Given the description of an element on the screen output the (x, y) to click on. 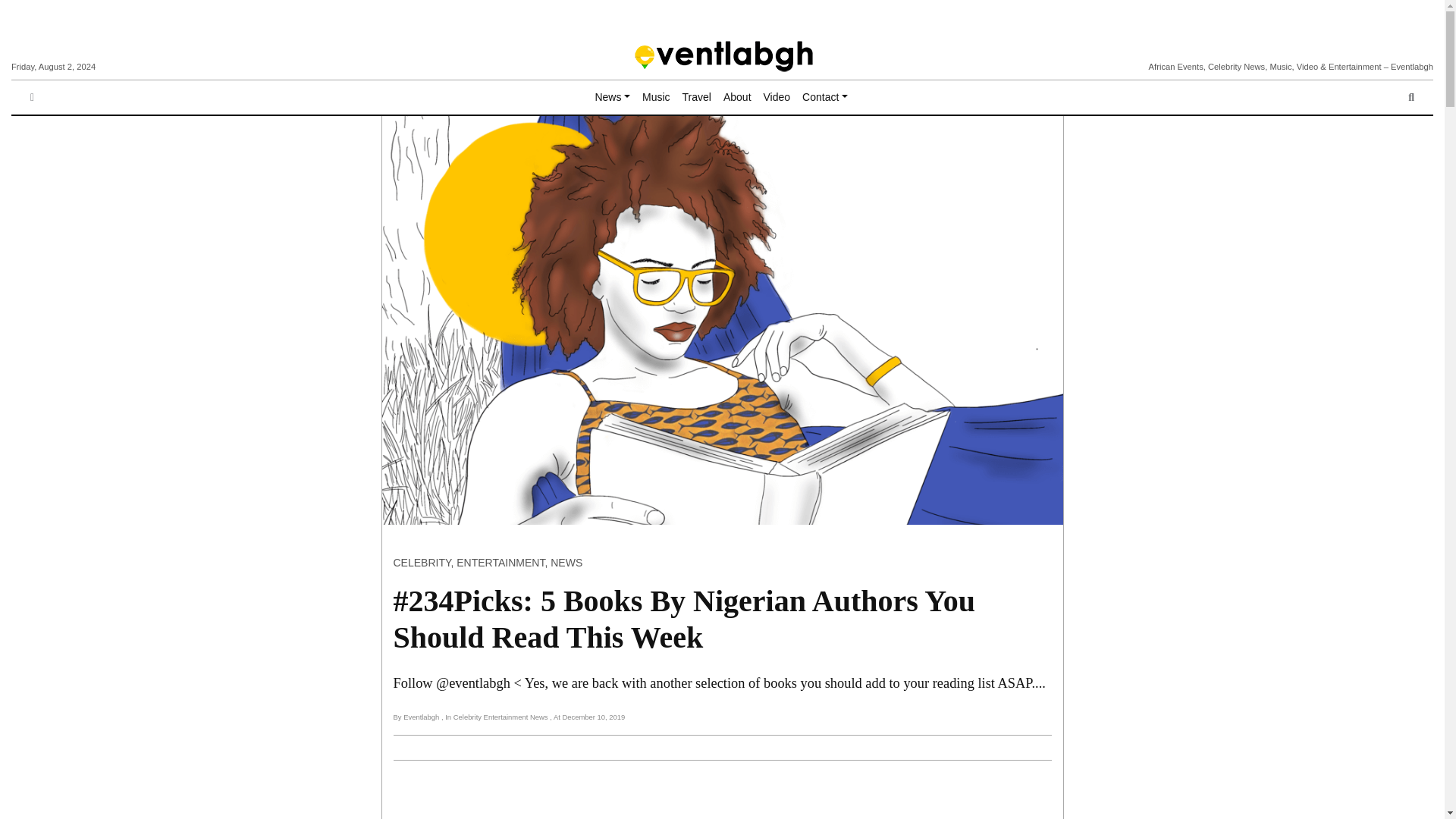
Video (776, 97)
Travel (697, 97)
Music (656, 97)
ENTERTAINMENT (500, 562)
Music (656, 97)
News (612, 97)
About (737, 97)
Contact (824, 97)
Contact (824, 97)
CELEBRITY (421, 562)
